Given the description of an element on the screen output the (x, y) to click on. 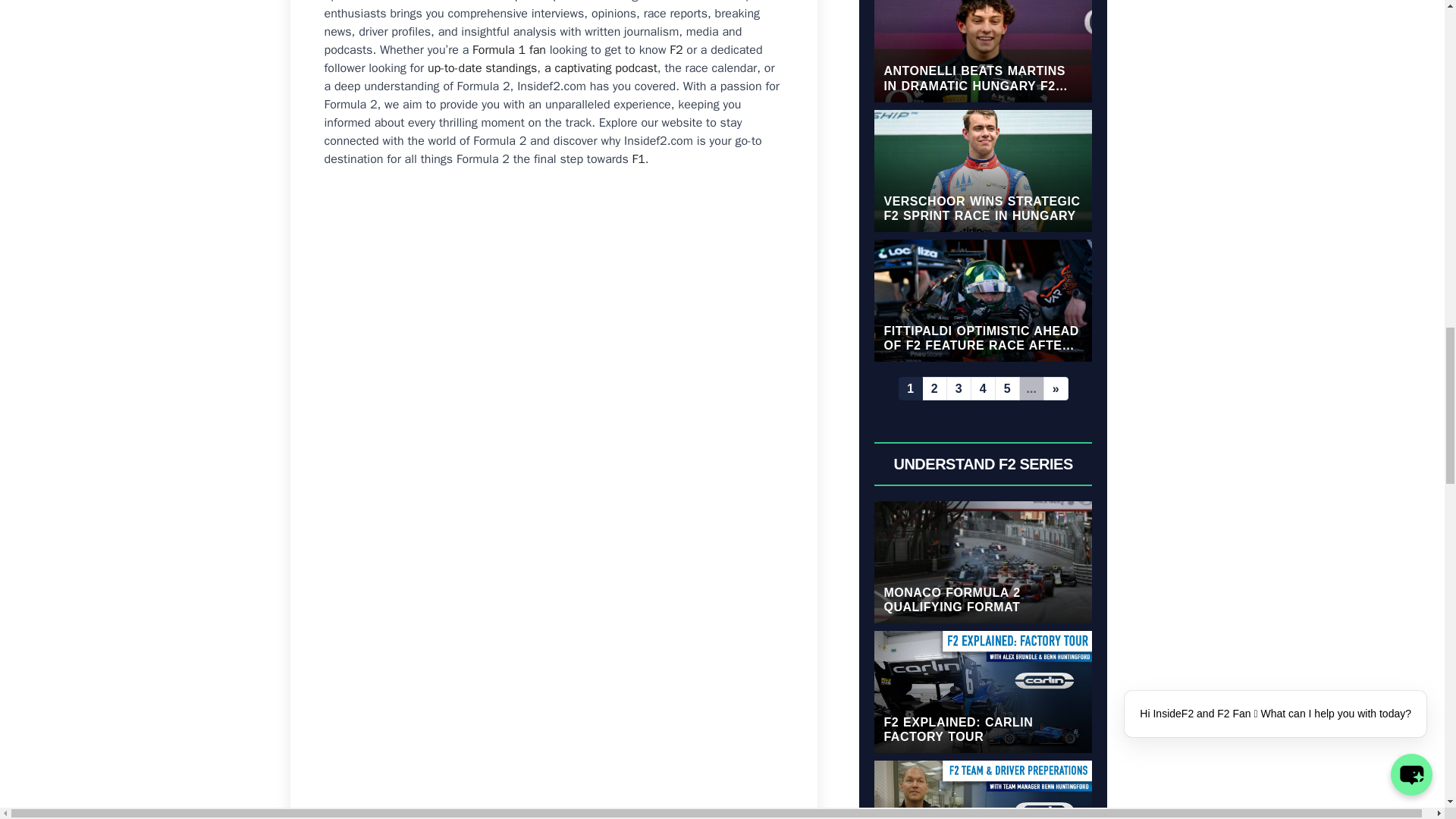
Next page (1055, 388)
a captivating podcast (601, 68)
F2 (675, 49)
FIA Formula 2 Championship (483, 1)
up-to-date standings (482, 68)
Formula 1 fan (508, 49)
